Given the description of an element on the screen output the (x, y) to click on. 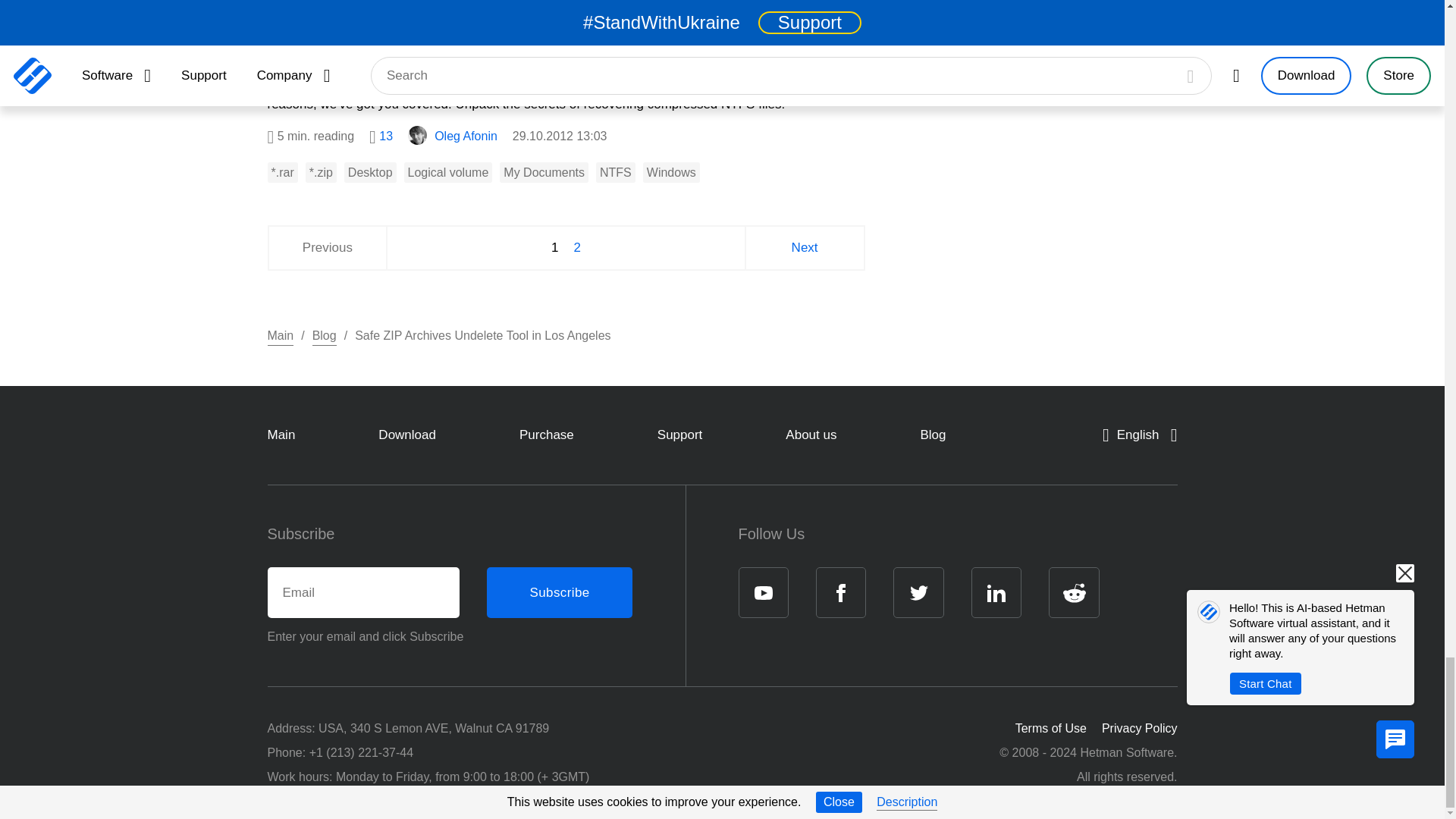
Retrieve Compressed NTFS Files: Recovery Guide (565, 6)
